Given the description of an element on the screen output the (x, y) to click on. 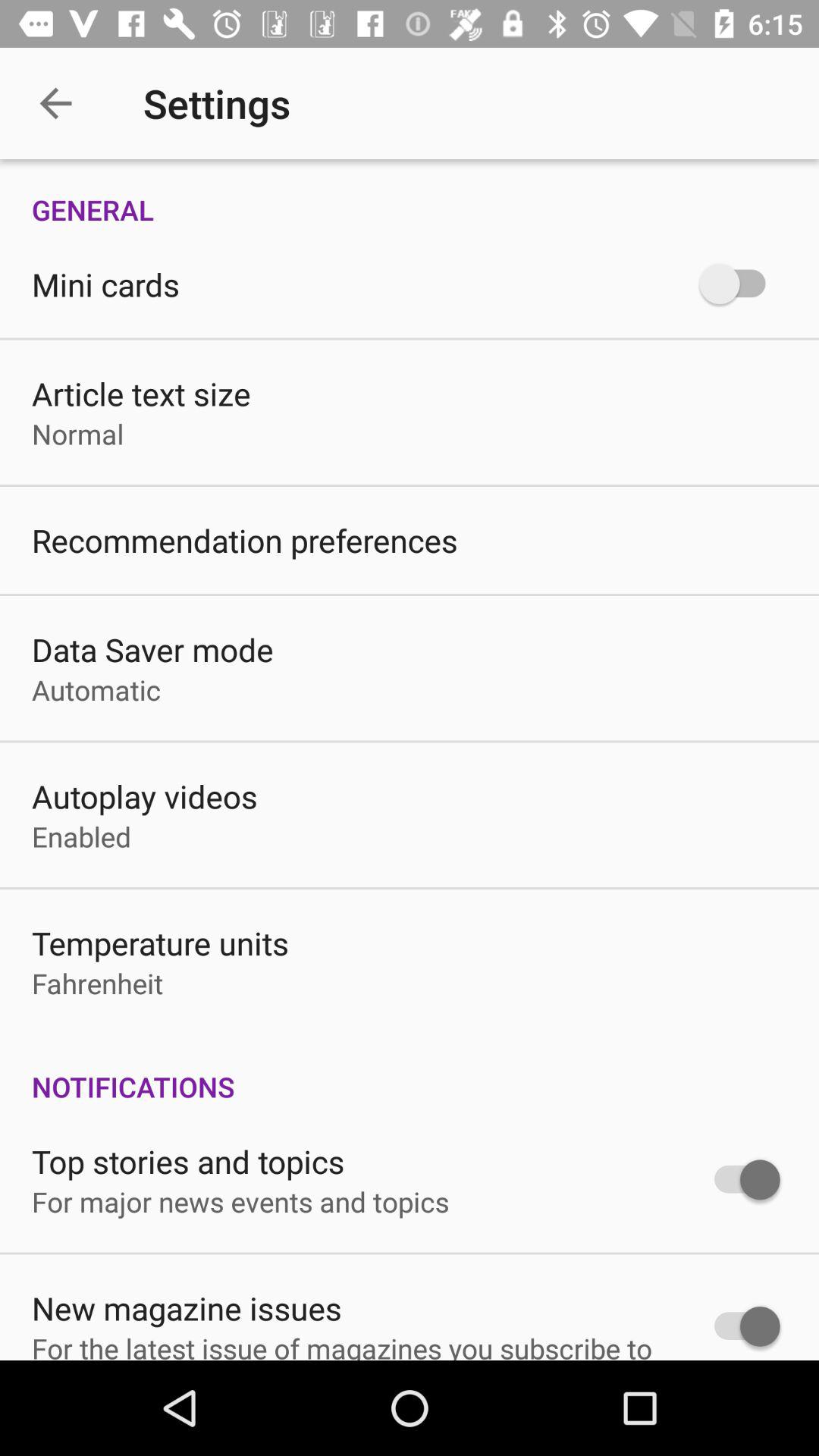
flip to the fahrenheit (97, 983)
